Given the description of an element on the screen output the (x, y) to click on. 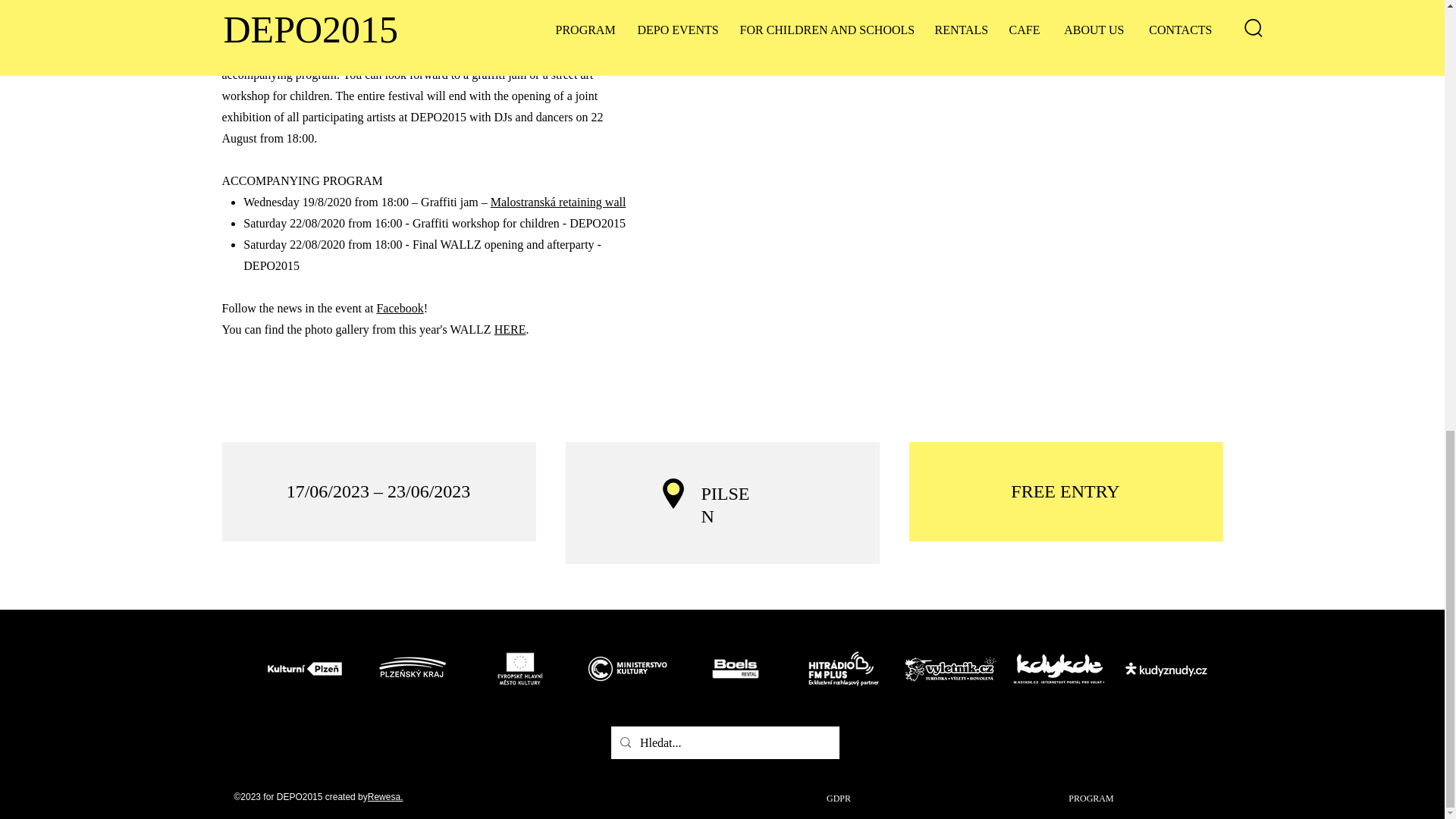
DEPO2015 (304, 668)
HERE (510, 328)
Rewesa. (385, 796)
DEPO2015 (735, 668)
DEPO2015 (950, 668)
Facebook (399, 308)
PROGRAM (1090, 798)
DEPO2015 (520, 668)
DEPO2015 (842, 668)
DEPO2015 (1058, 668)
DEPO2015 (412, 668)
DEPO2015 (1166, 668)
GDPR (838, 798)
DEPO2015 (627, 668)
ikona-mapa.png (672, 493)
